Given the description of an element on the screen output the (x, y) to click on. 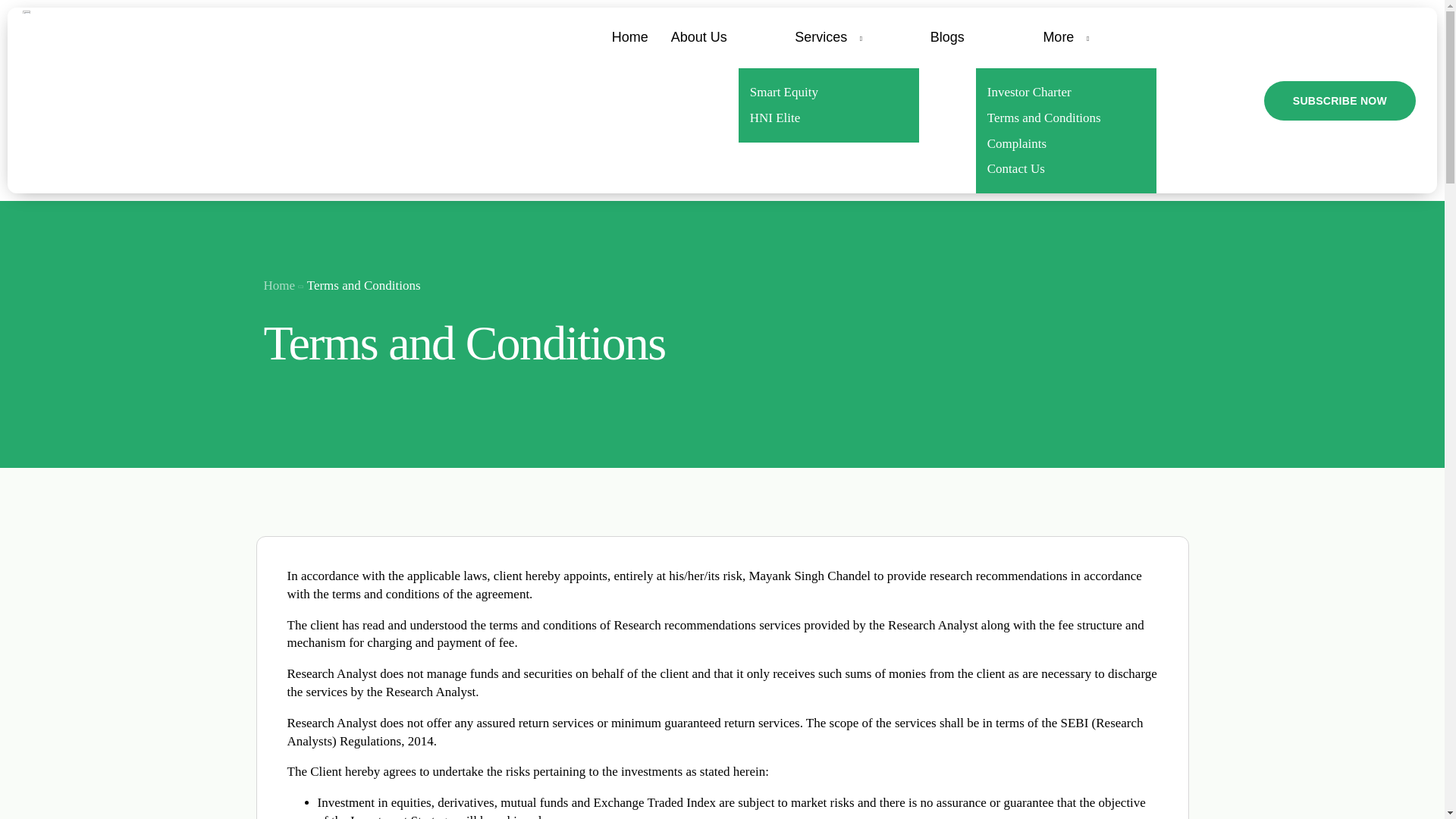
More (1065, 37)
Home (629, 37)
HNI Elite (828, 118)
Services (828, 37)
Complaints (1065, 144)
Contact Us (1065, 168)
Home (279, 285)
About Us (698, 37)
Smart Equity (828, 92)
Terms and Conditions (1065, 118)
Blogs (946, 37)
Investor Charter (1065, 92)
SUBSCRIBE NOW (1339, 100)
